Given the description of an element on the screen output the (x, y) to click on. 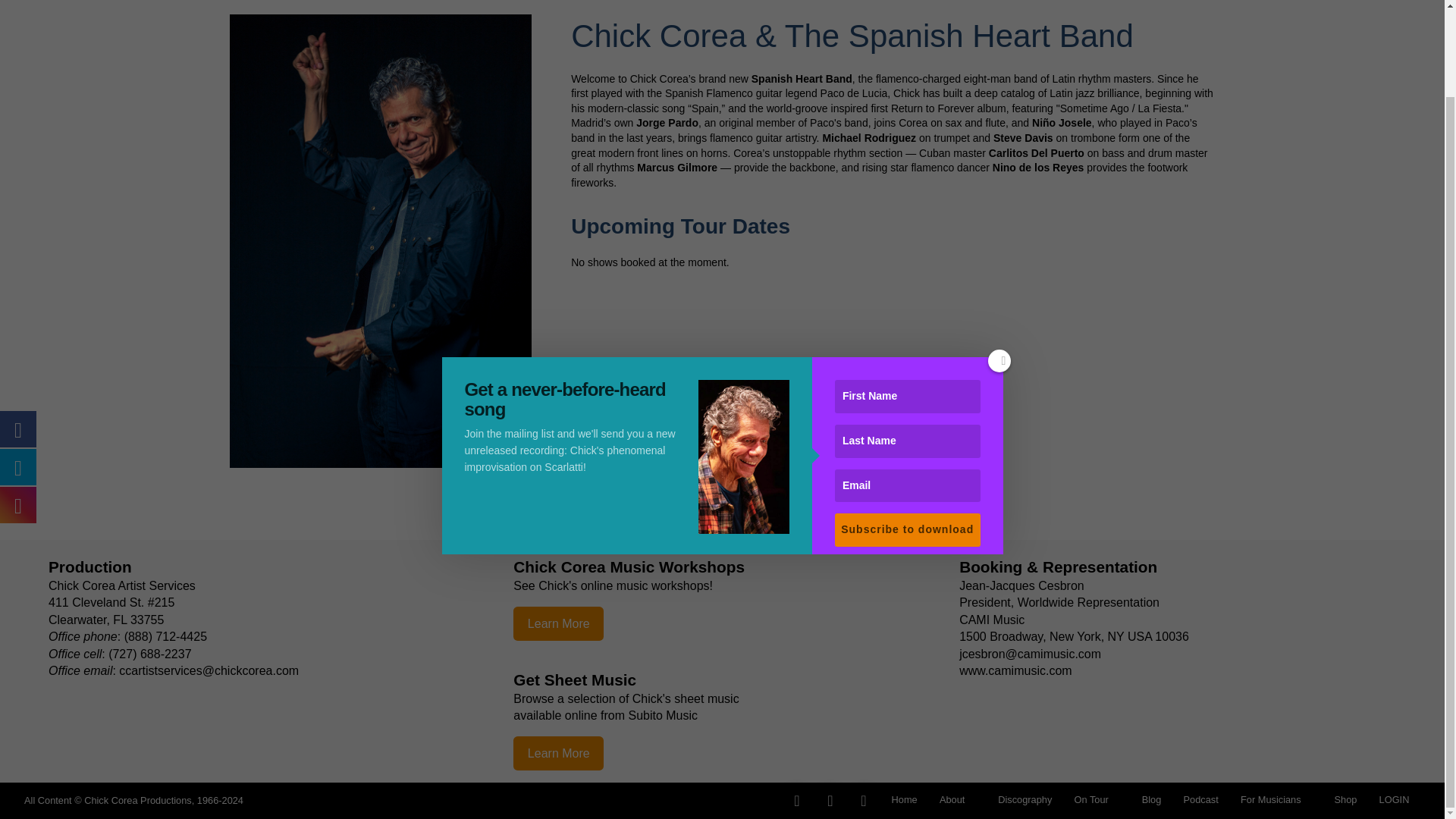
Learn More (558, 752)
Learn More (558, 622)
